Given the description of an element on the screen output the (x, y) to click on. 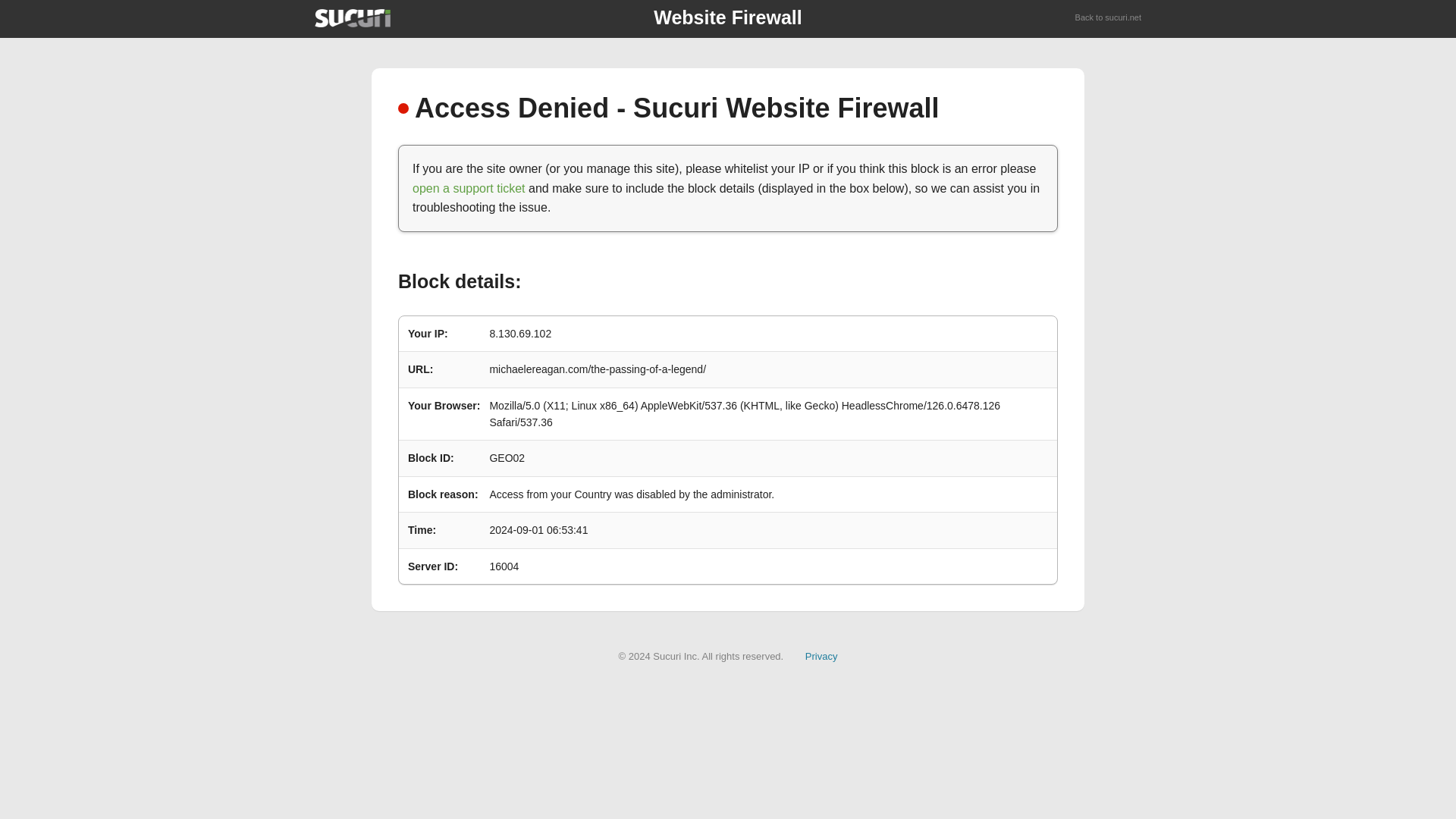
Privacy (821, 655)
open a support ticket (468, 187)
Back to sucuri.net (1108, 18)
